Given the description of an element on the screen output the (x, y) to click on. 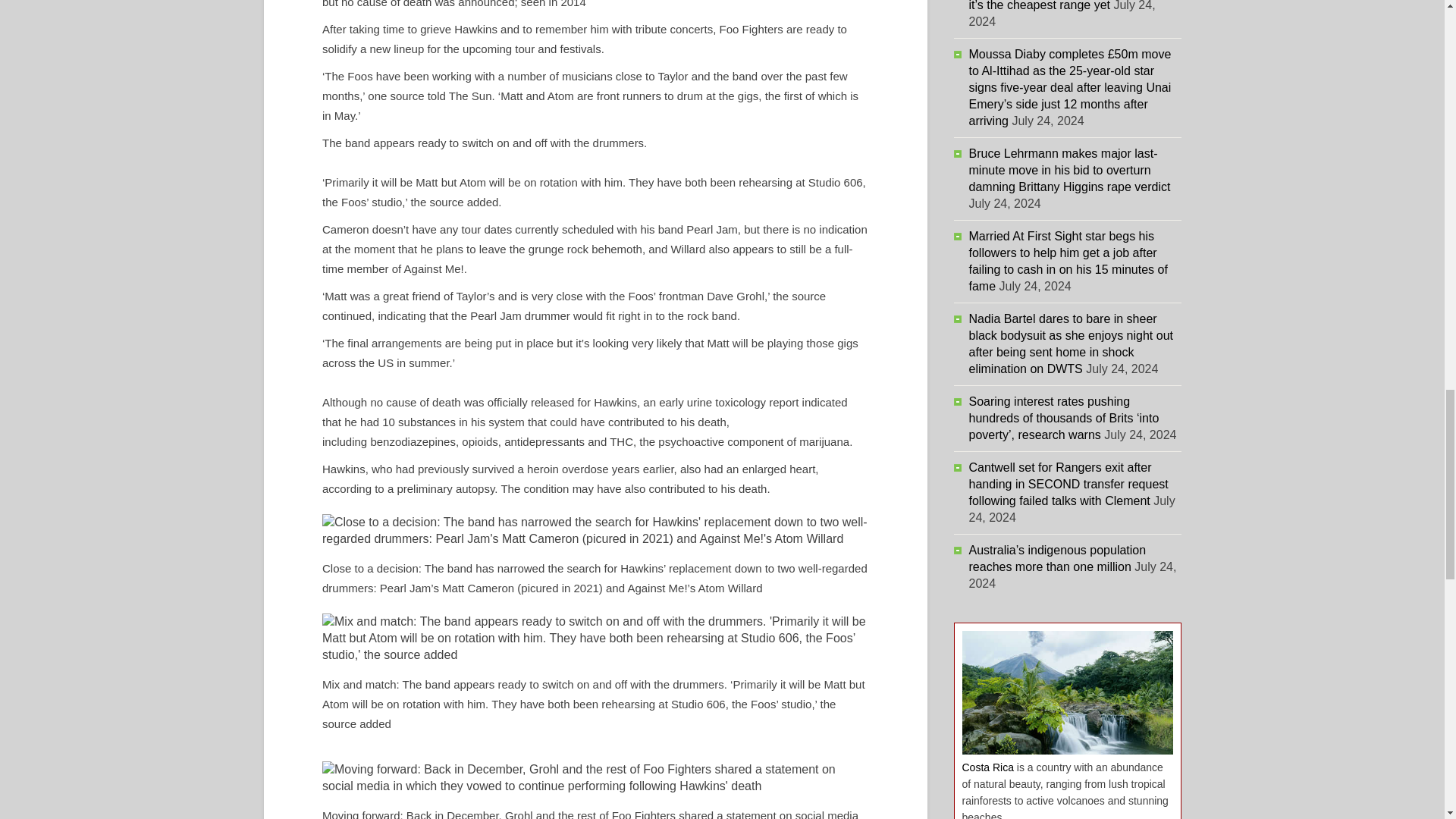
Costa Rica (986, 767)
